Given the description of an element on the screen output the (x, y) to click on. 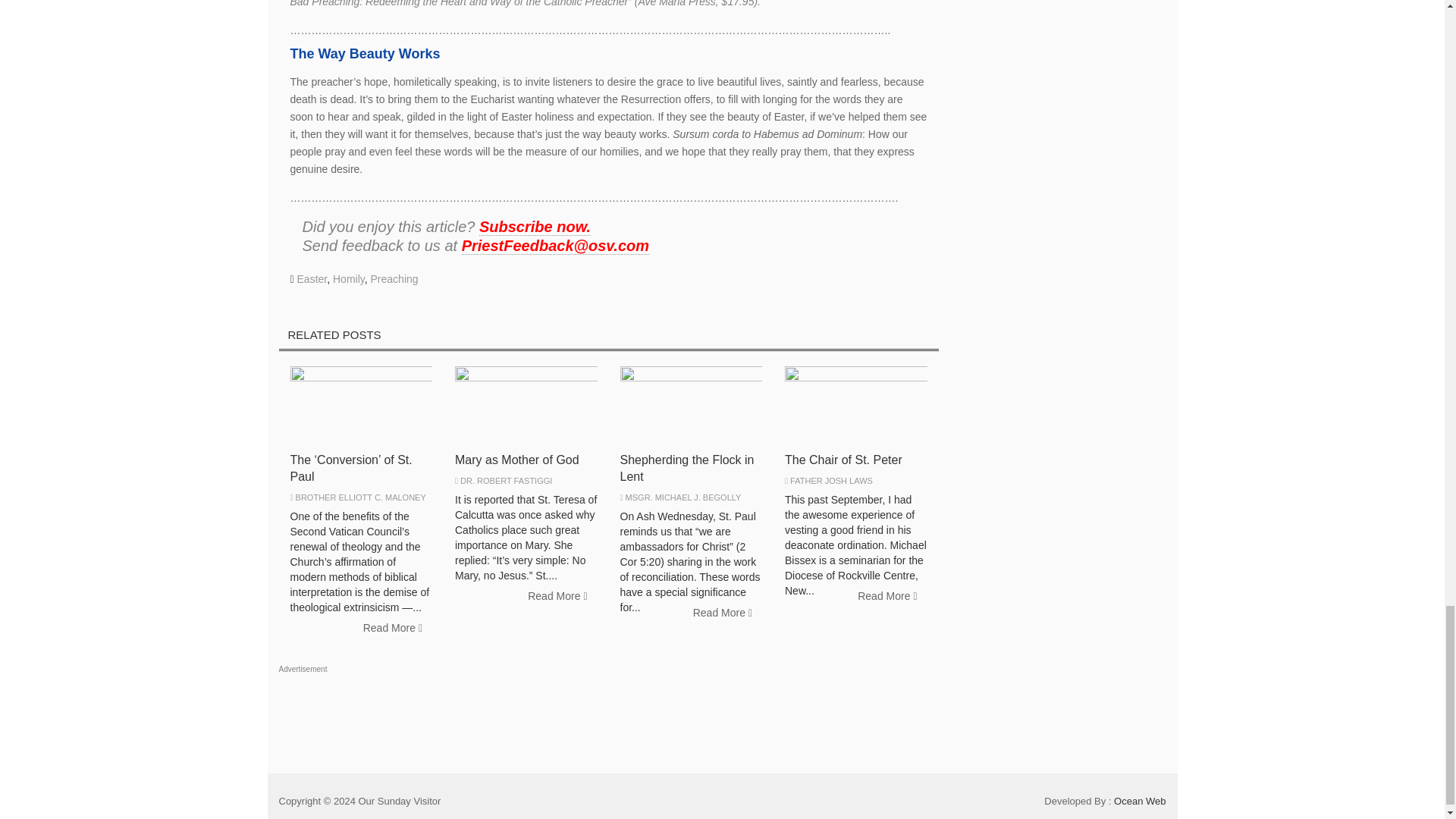
Preaching (395, 278)
BROTHER ELLIOTT C. MALONEY (360, 497)
Read More (392, 628)
Shepherding the Flock in Lent (687, 468)
Read More (721, 613)
Mary as Mother of God (516, 459)
Easter (312, 278)
MSGR. MICHAEL J. BEGOLLY (683, 497)
FATHER JOSH LAWS (831, 480)
Read More (557, 596)
